Given the description of an element on the screen output the (x, y) to click on. 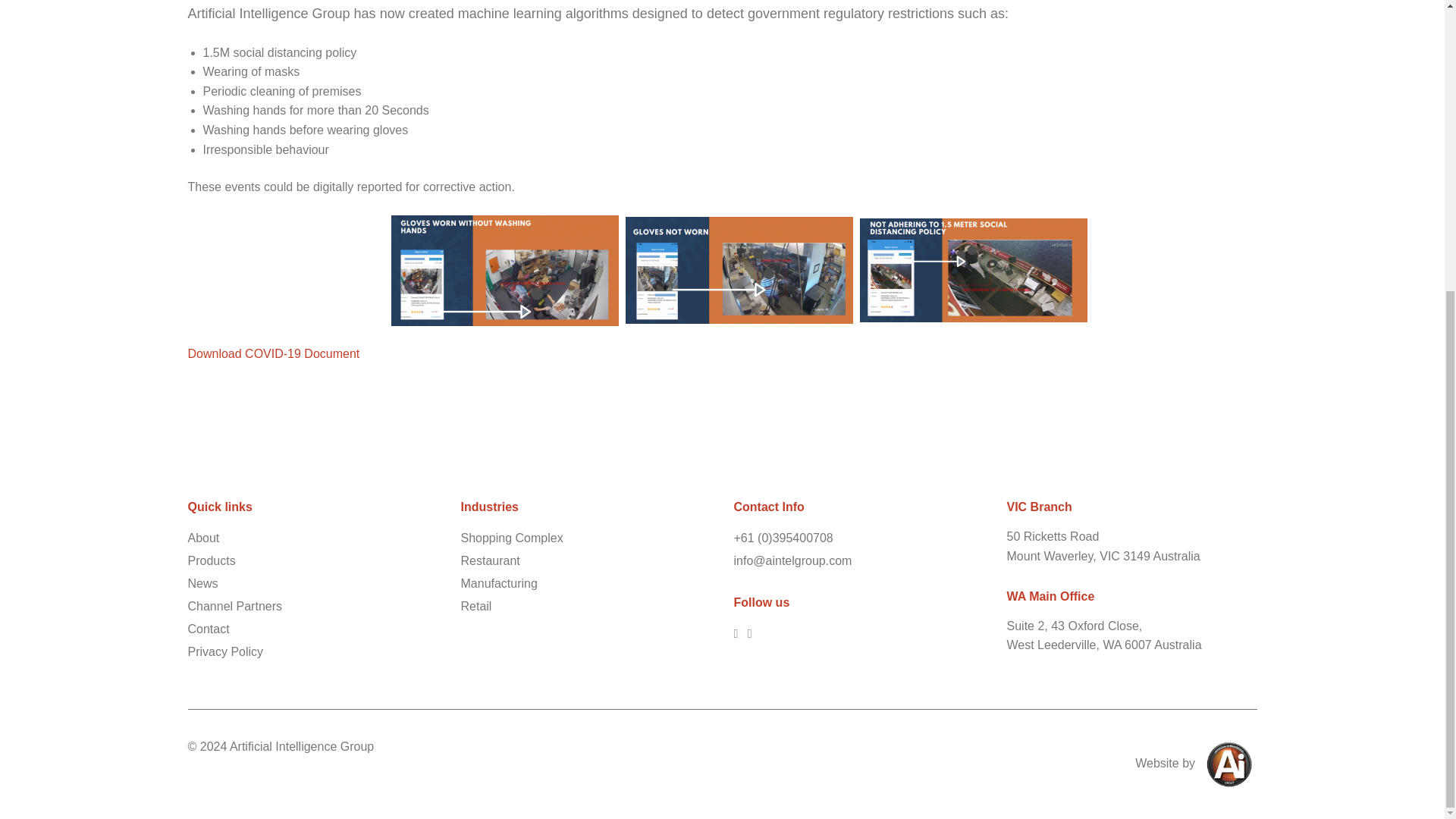
About (203, 538)
Privacy Policy (225, 651)
Contact (208, 629)
Click here to send an email to us (792, 560)
News (202, 583)
Restaurant (490, 560)
Download COVID-19 Document  (274, 353)
Shopping Complex (512, 538)
Retail (476, 606)
Channel Partners (234, 606)
Products (211, 560)
Manufacturing (499, 583)
